Given the description of an element on the screen output the (x, y) to click on. 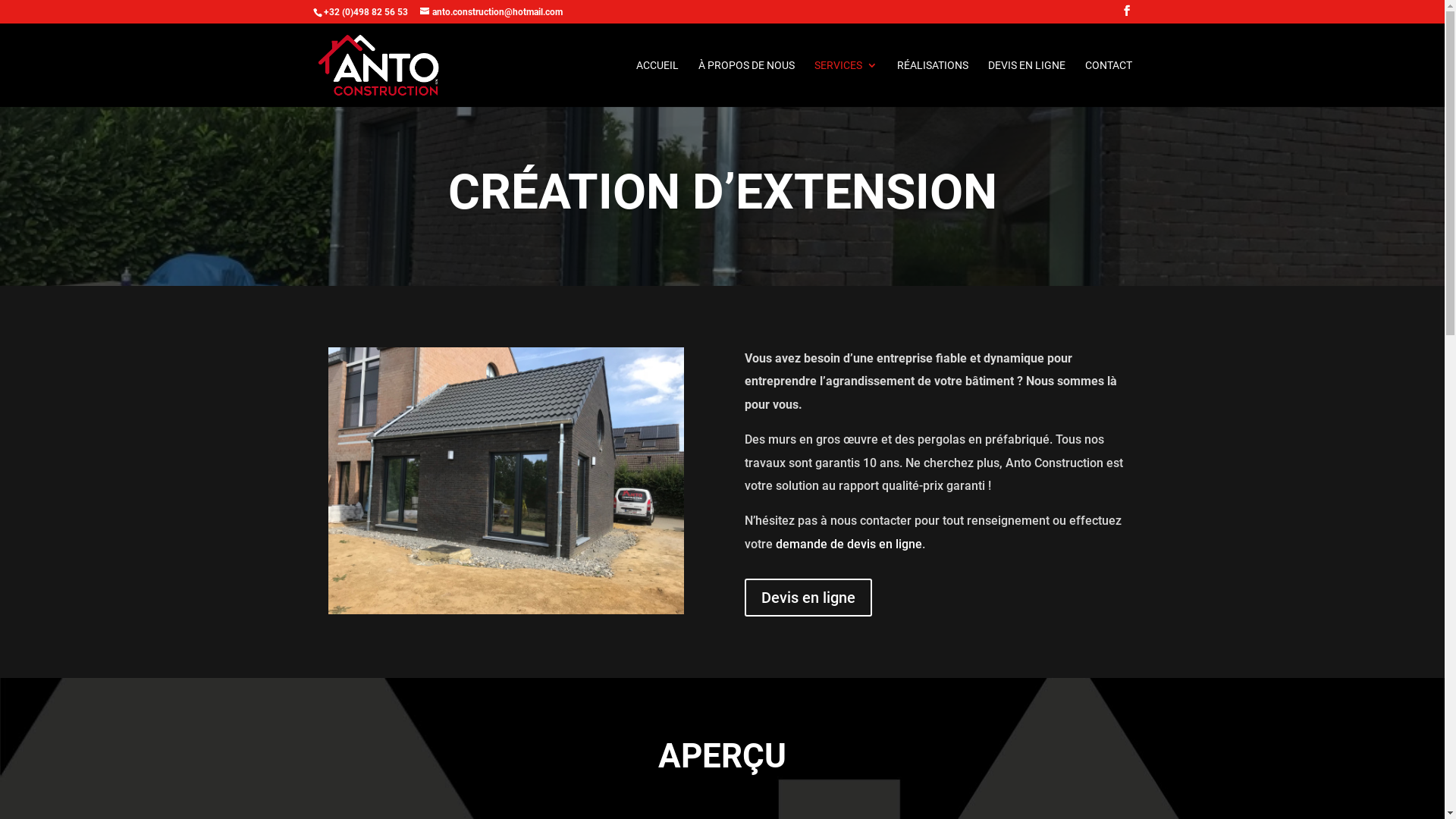
+32 (0)498 82 56 53 Element type: text (365, 11)
SERVICES Element type: text (845, 82)
CONTACT Element type: text (1107, 82)
anto.construction@hotmail.com Element type: text (491, 11)
DEVIS EN LIGNE Element type: text (1025, 82)
demande de devis en ligne Element type: text (848, 543)
ACCUEIL Element type: text (656, 82)
Devis en ligne Element type: text (808, 597)
